Given the description of an element on the screen output the (x, y) to click on. 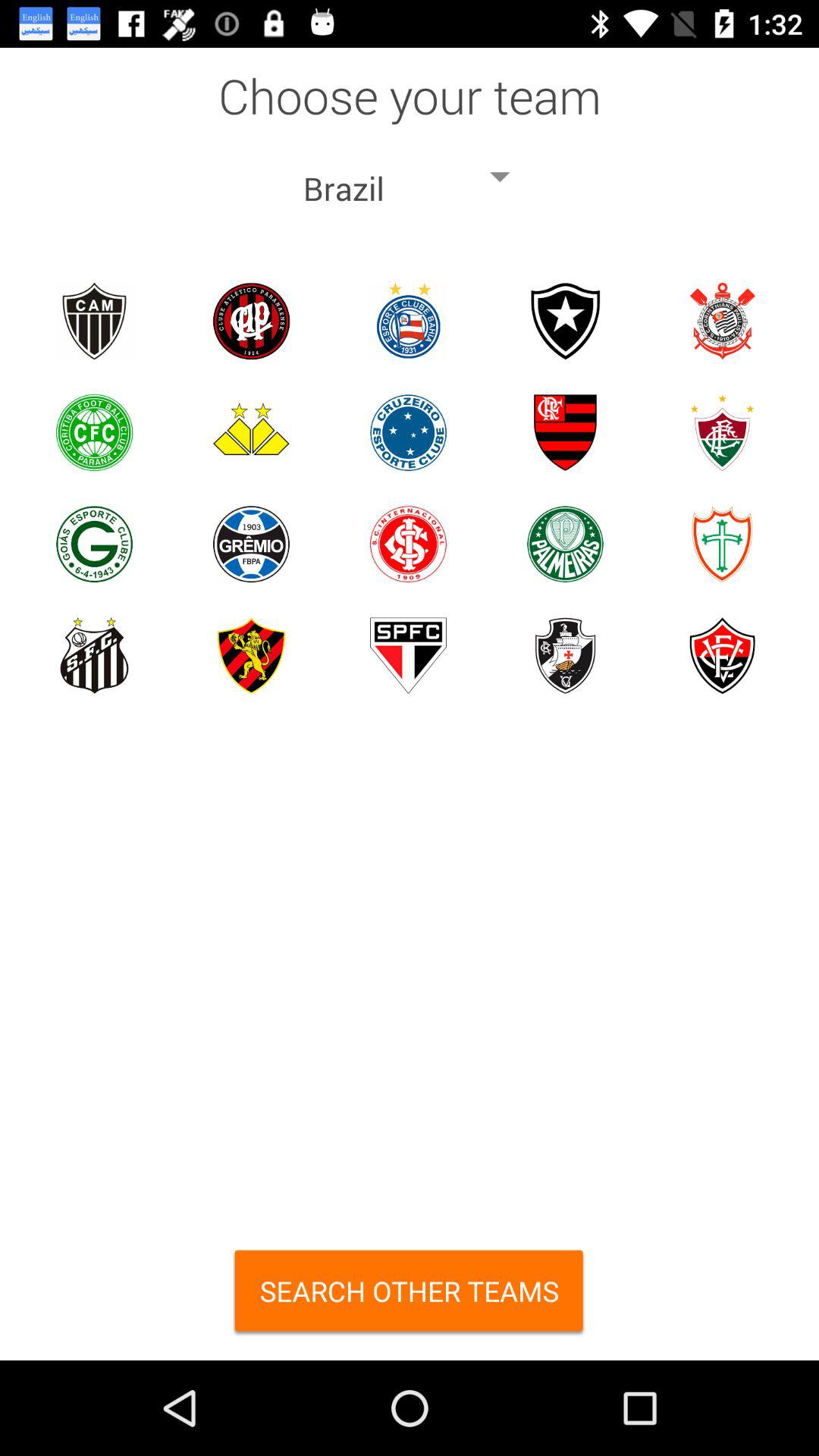
select shield (565, 432)
